Given the description of an element on the screen output the (x, y) to click on. 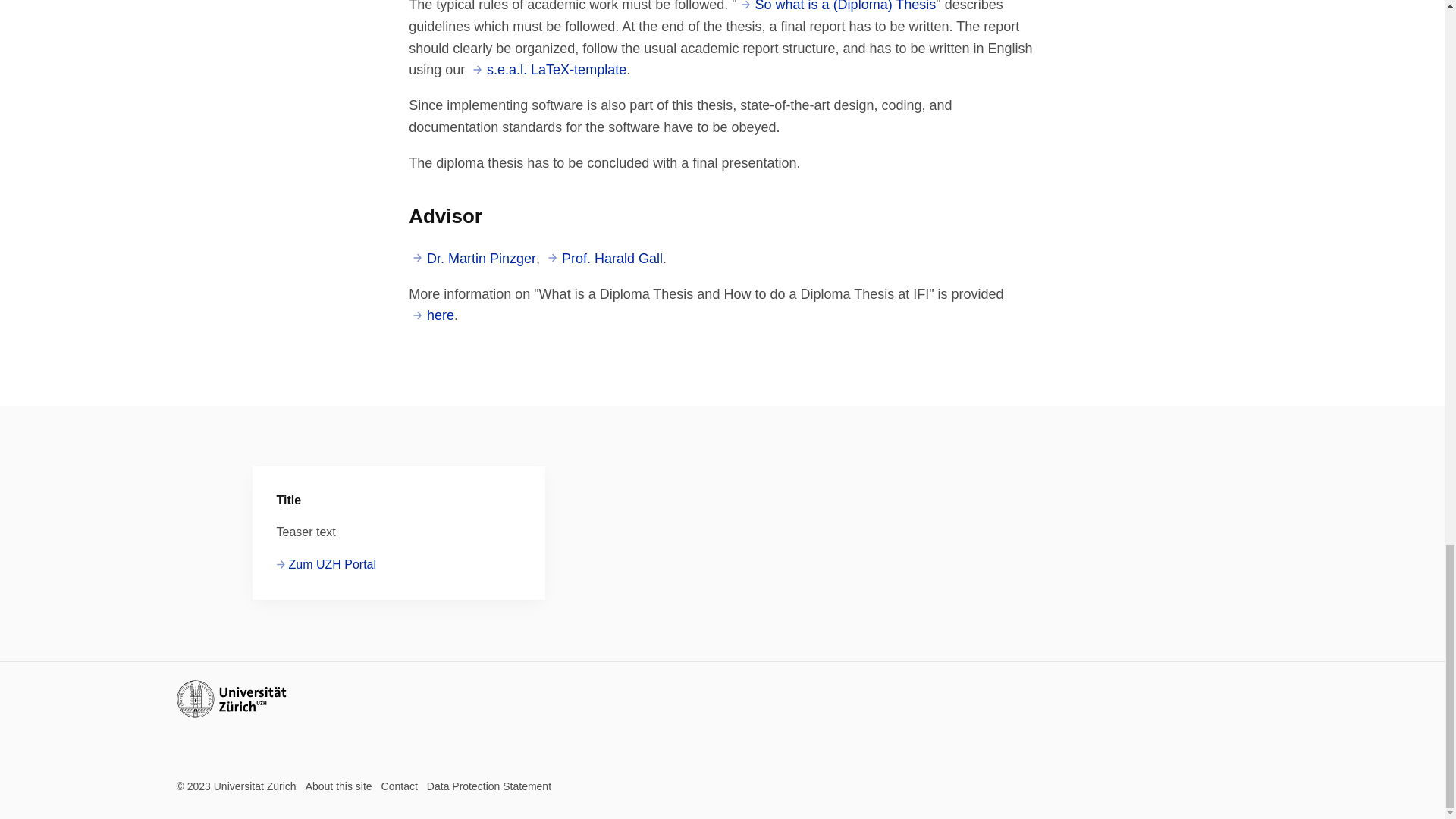
Zum UZH Portal (325, 564)
